Given the description of an element on the screen output the (x, y) to click on. 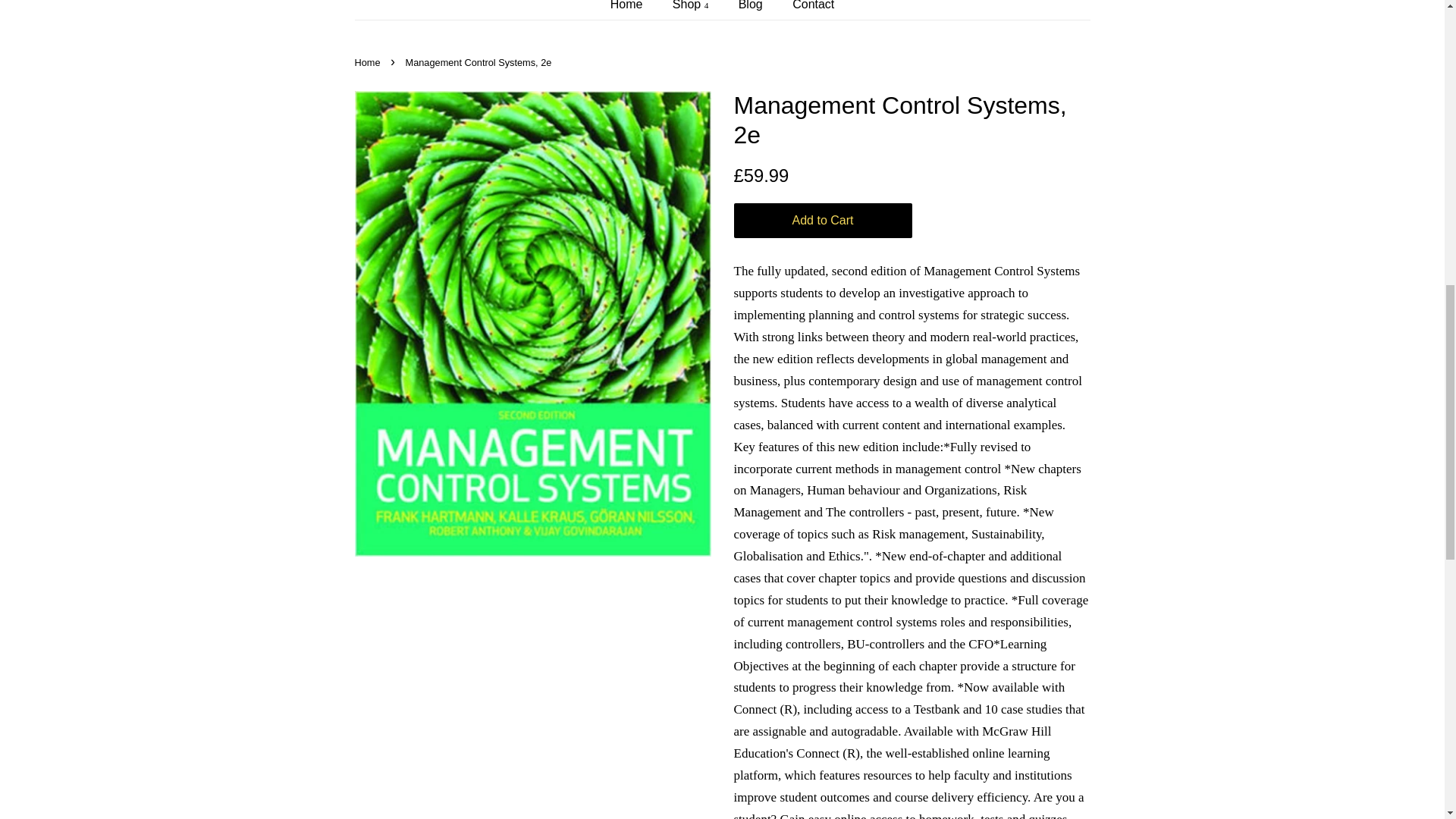
Back to the frontpage (369, 61)
